Given the description of an element on the screen output the (x, y) to click on. 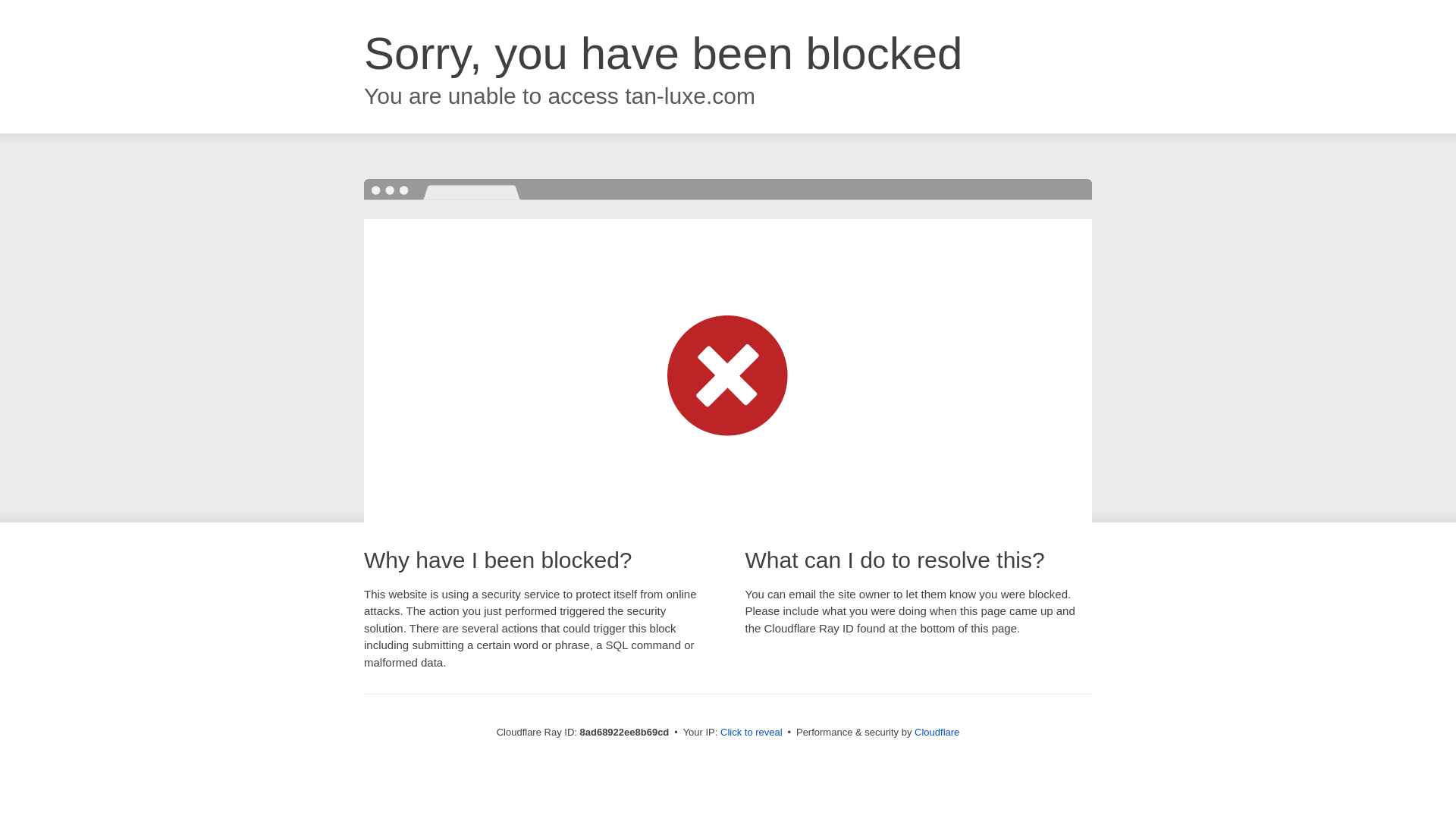
Click to reveal (751, 732)
Cloudflare (936, 731)
